Given the description of an element on the screen output the (x, y) to click on. 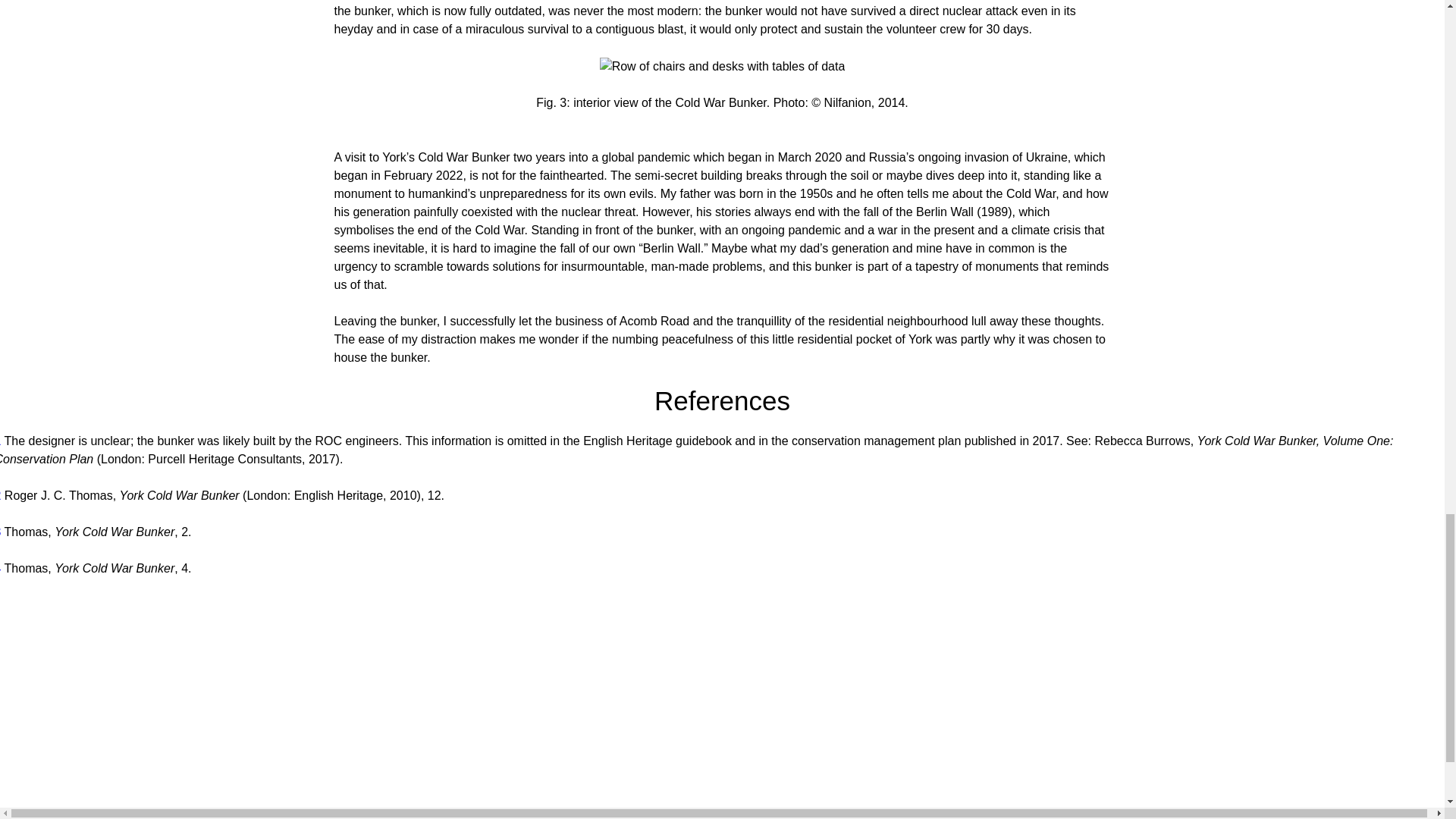
LEGAL STATEMENT (181, 810)
Twentieth-Century-Society (992, 813)
York-Civic-Trust (761, 818)
University-of-York (528, 818)
York-Art-History-Colaborations (1224, 813)
